Given the description of an element on the screen output the (x, y) to click on. 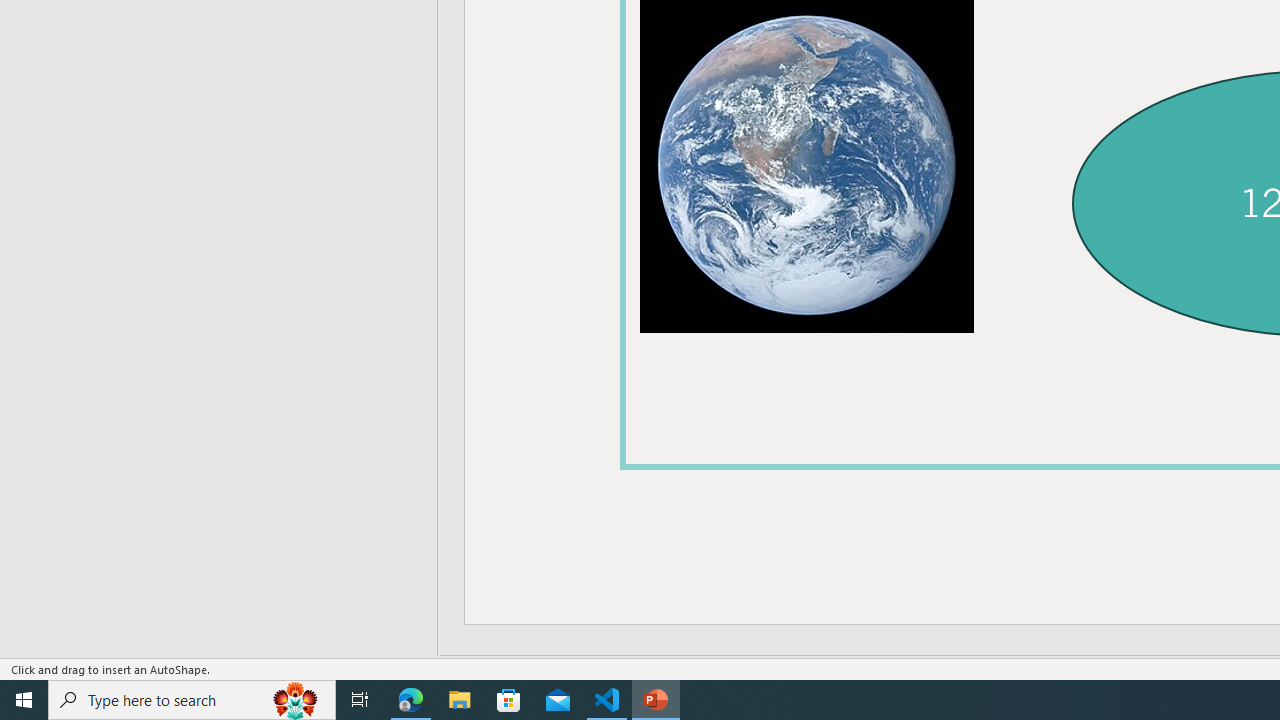
Microsoft Edge - 1 running window (411, 699)
